Given the description of an element on the screen output the (x, y) to click on. 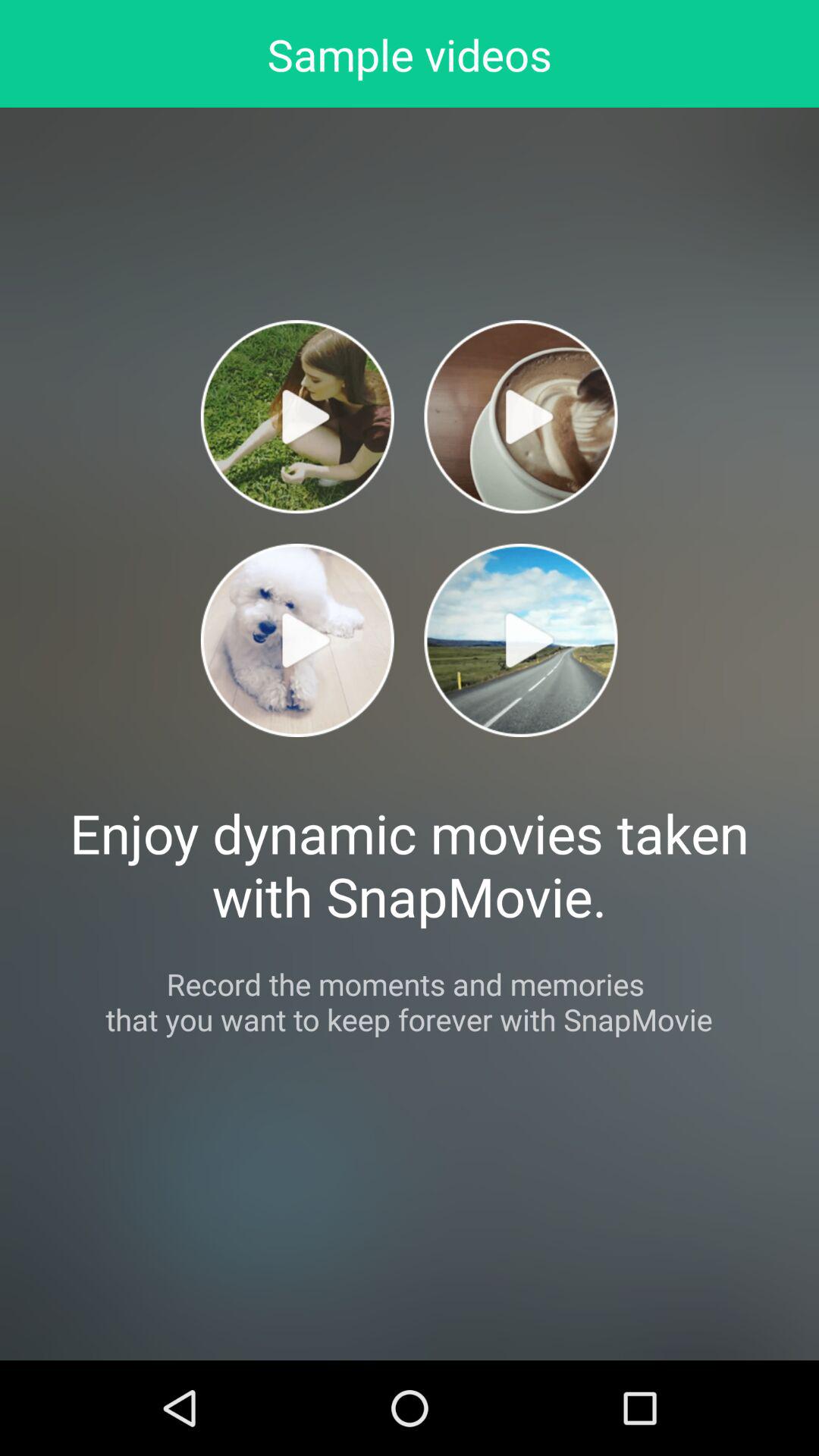
play video (297, 640)
